Given the description of an element on the screen output the (x, y) to click on. 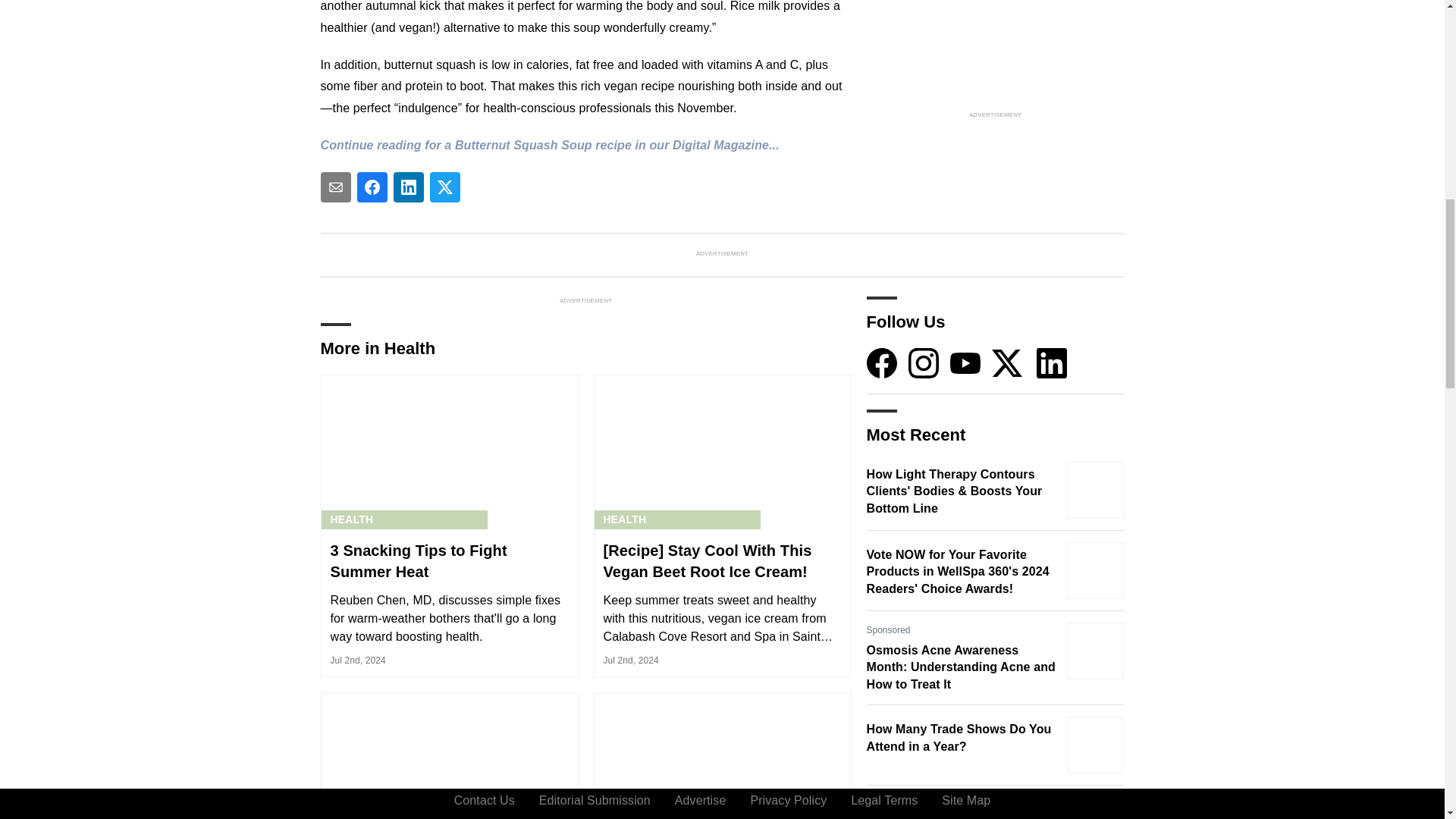
Share To email (335, 186)
Share To facebook (371, 186)
YouTube icon (964, 363)
Twitter X icon (1006, 363)
LinkedIn icon (1051, 363)
Share To linkedin (408, 186)
Share To twitter (444, 186)
Facebook icon (881, 363)
Instagram icon (923, 363)
